Given the description of an element on the screen output the (x, y) to click on. 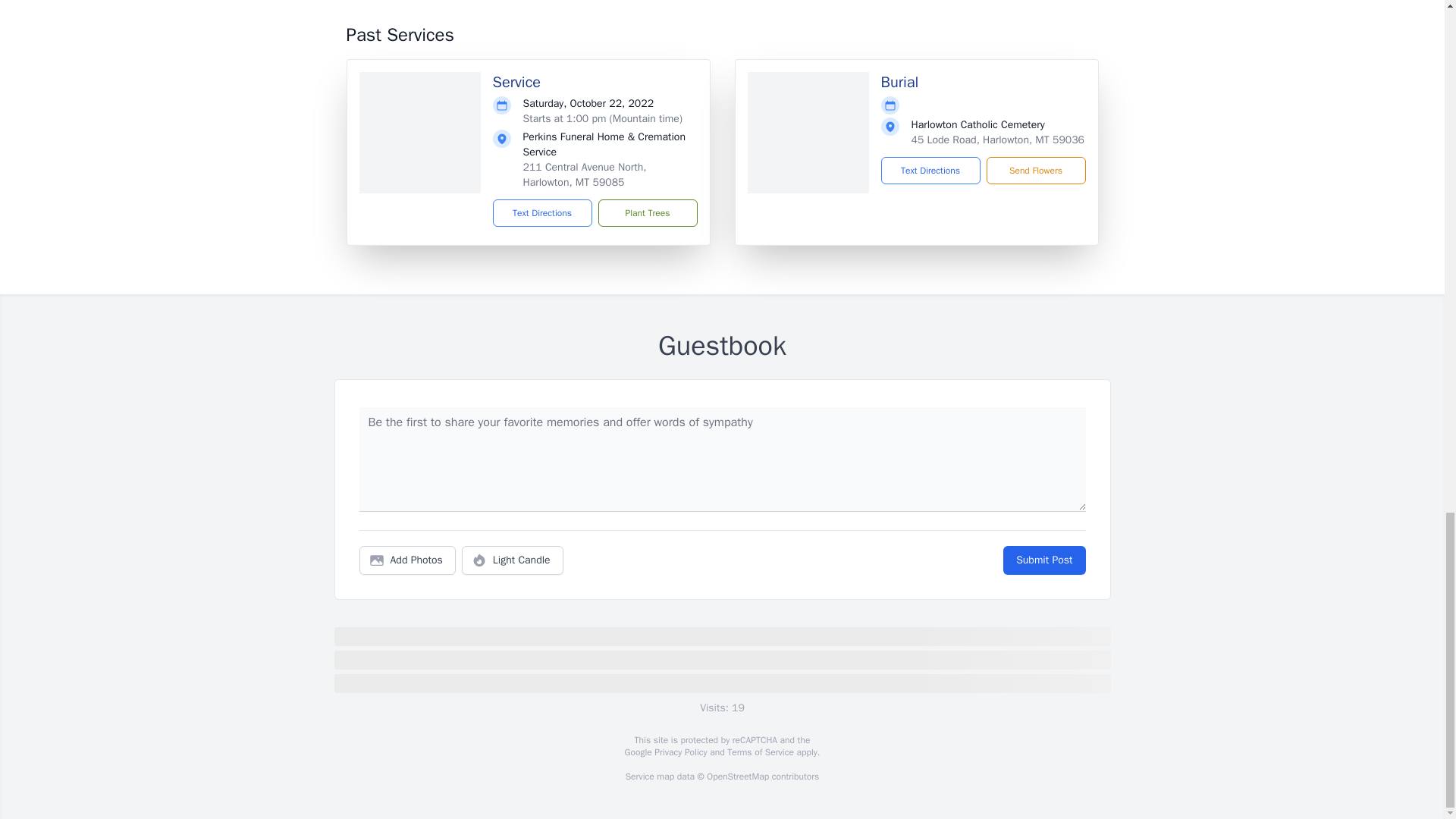
Send Flowers (1034, 170)
45 Lode Road, Harlowton, MT 59036 (997, 139)
Add Photos (407, 560)
Privacy Policy (679, 752)
Submit Post (1043, 560)
Text Directions (929, 170)
Plant Trees (646, 212)
Text Directions (542, 212)
211 Central Avenue North, Harlowton, MT 59085 (584, 174)
Light Candle (512, 560)
